Given the description of an element on the screen output the (x, y) to click on. 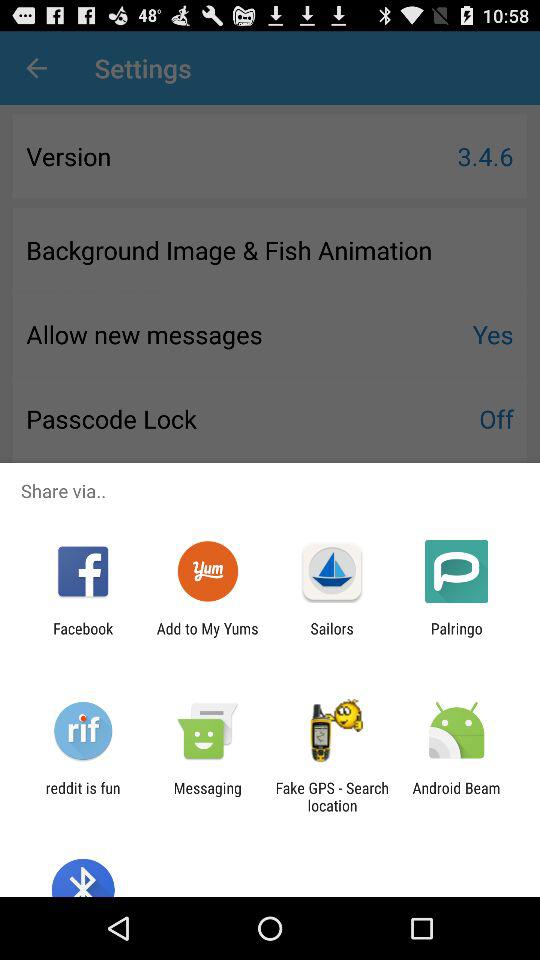
click app next to messaging app (332, 796)
